Given the description of an element on the screen output the (x, y) to click on. 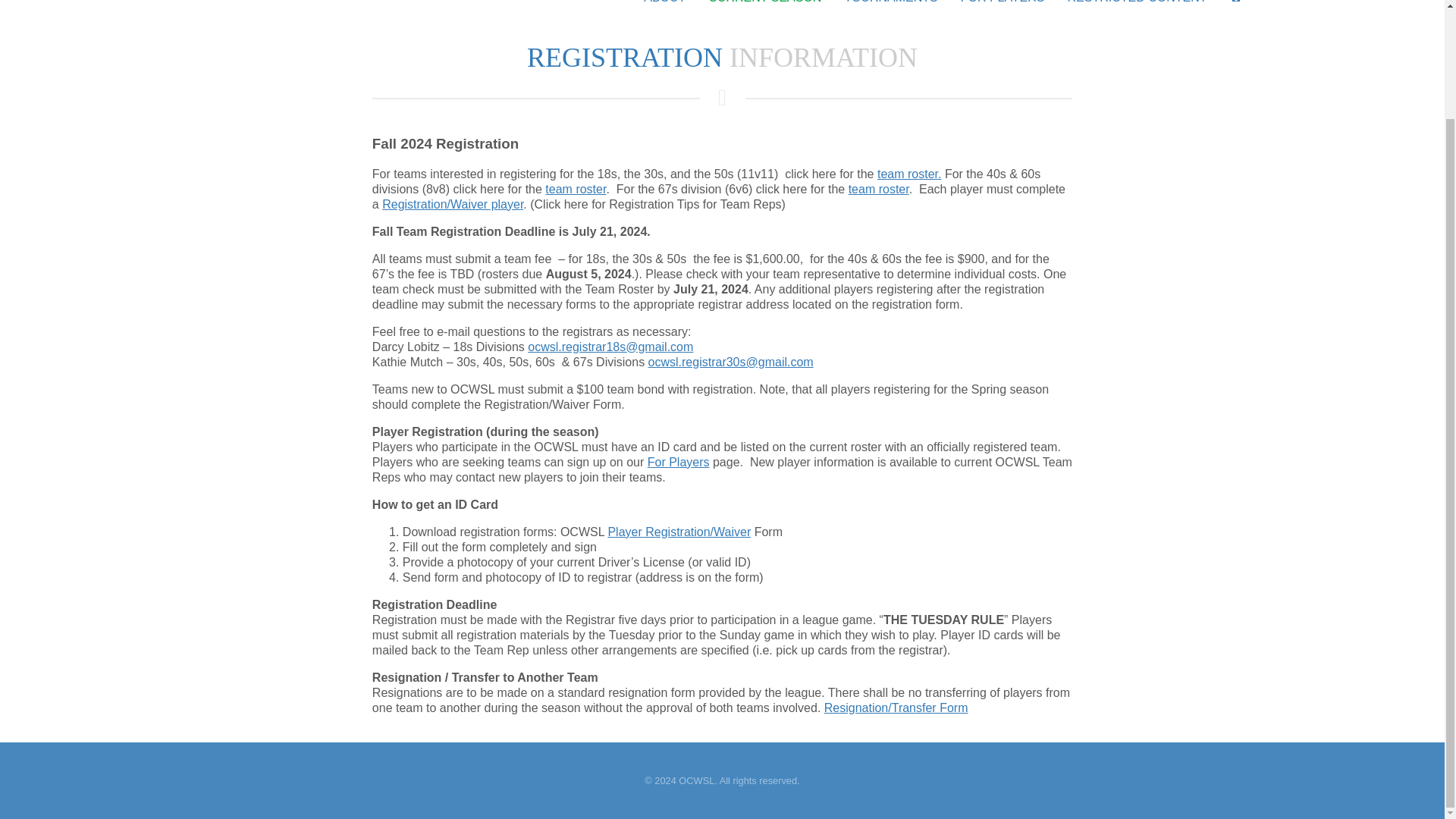
ABOUT (664, 9)
TOURNAMENTS (890, 9)
RESTRICTED CONTENT (1136, 9)
CURRENT SEASON (764, 9)
FOR PLAYERS (1003, 9)
